Given the description of an element on the screen output the (x, y) to click on. 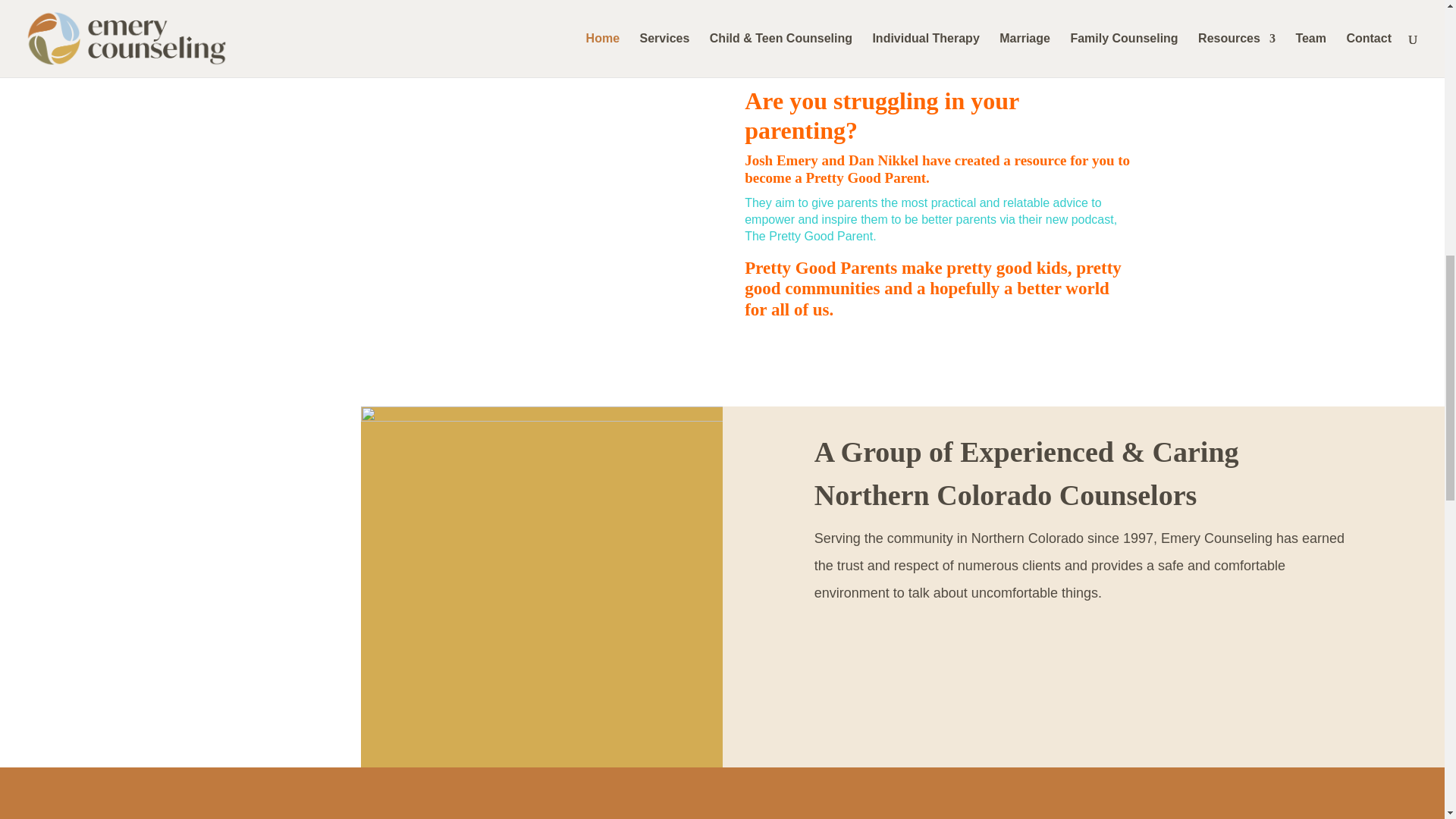
Josh Emery (781, 160)
Pretty Good Parent (865, 177)
Dan Nikkel (883, 160)
YouTube video player (505, 205)
